Given the description of an element on the screen output the (x, y) to click on. 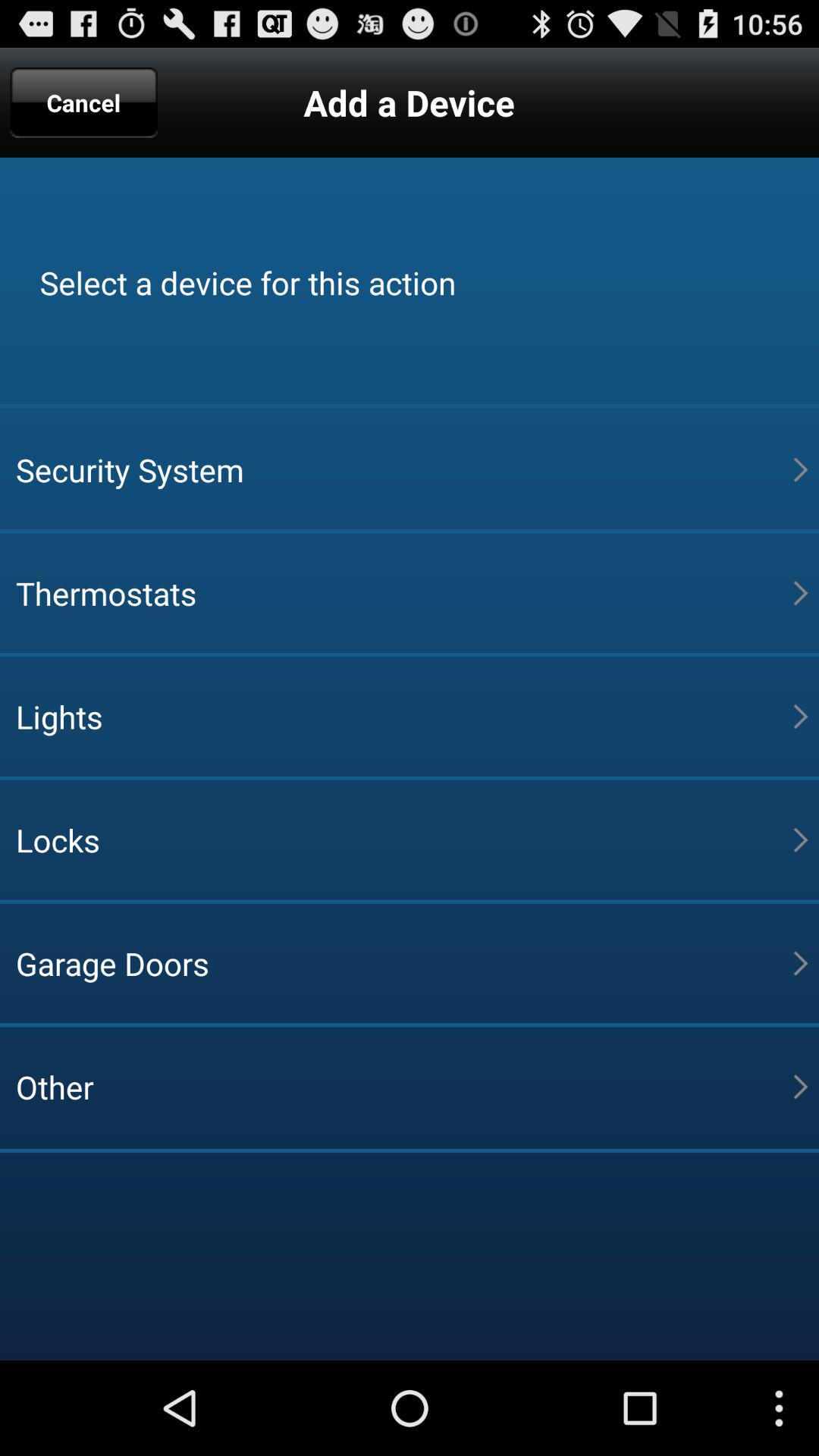
swipe to the garage doors icon (403, 963)
